Given the description of an element on the screen output the (x, y) to click on. 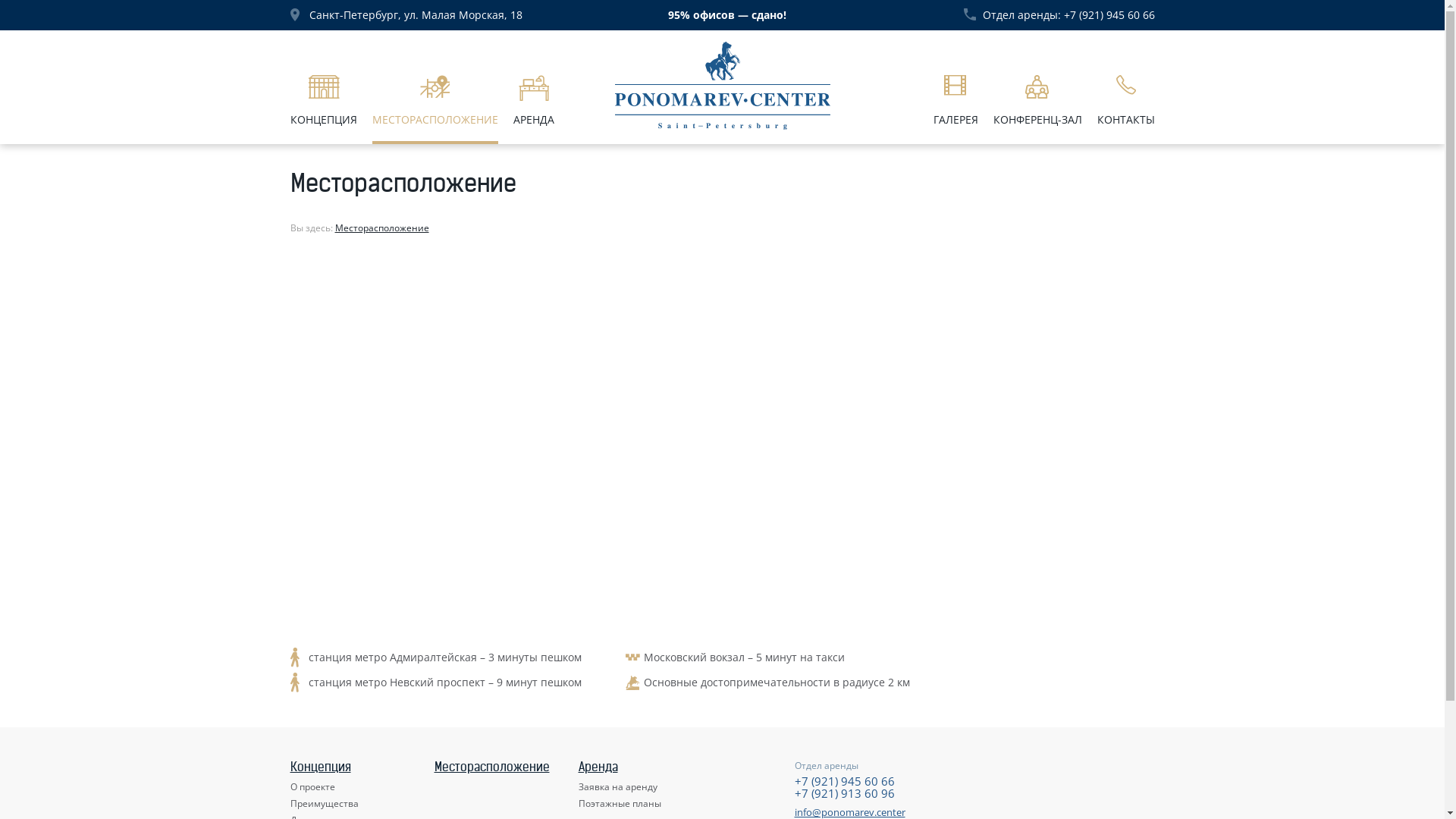
+7 (921) 945 60 66 Element type: text (1108, 14)
+7 (921) 913 60 96 Element type: text (844, 792)
+7 (921) 945 60 66 Element type: text (844, 780)
